Given the description of an element on the screen output the (x, y) to click on. 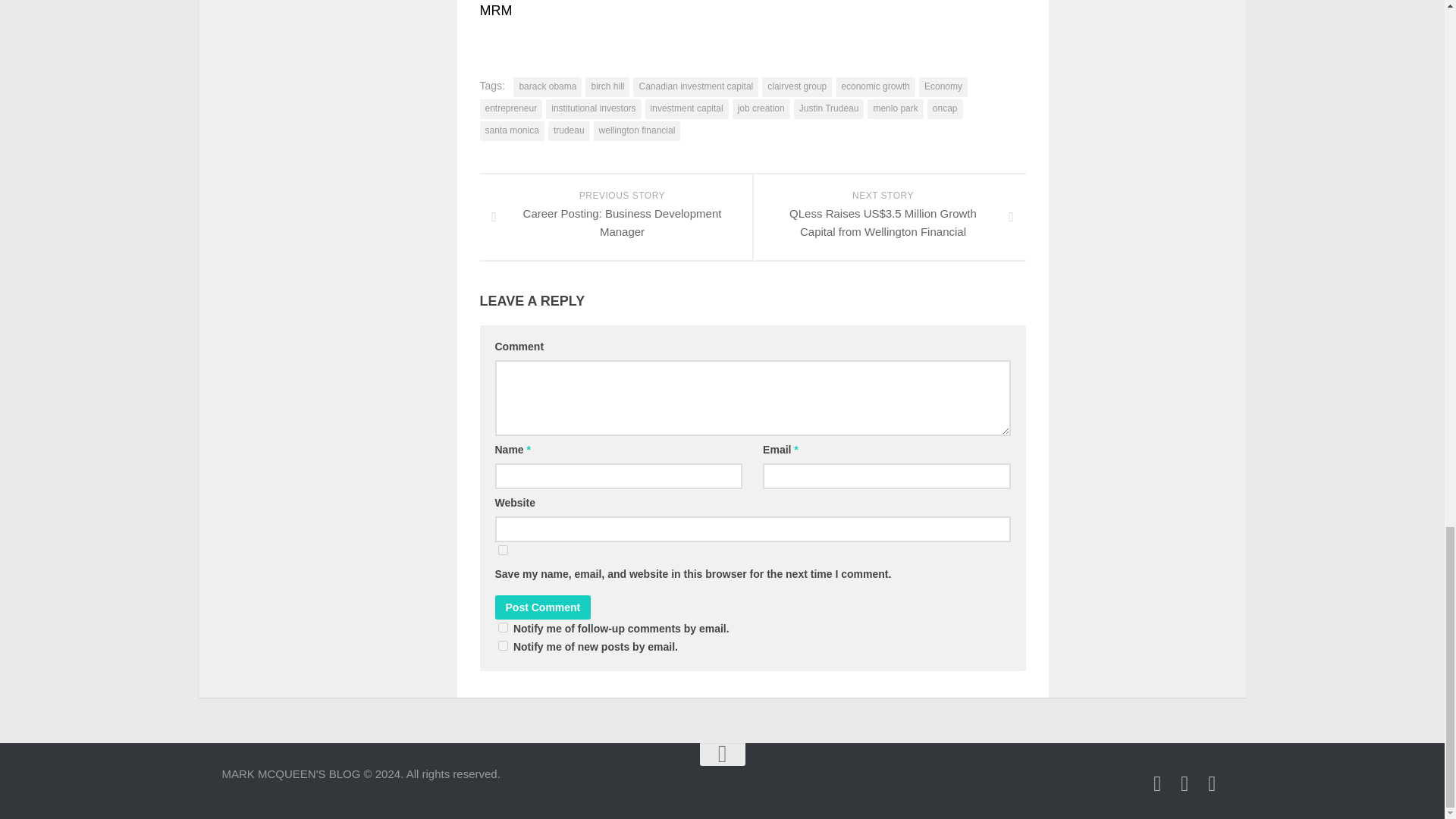
barack obama (546, 86)
institutional investors (593, 108)
subscribe (501, 627)
Add Mark McQueen on Linkedin (1184, 783)
Justin Trudeau (828, 108)
oncap (944, 108)
Post Comment (615, 217)
wellington financial (543, 607)
economic growth (637, 130)
subscribe (875, 86)
Follow Mark McQueen on Twitter (501, 645)
birch hill (1157, 783)
job creation (606, 86)
yes (761, 108)
